Given the description of an element on the screen output the (x, y) to click on. 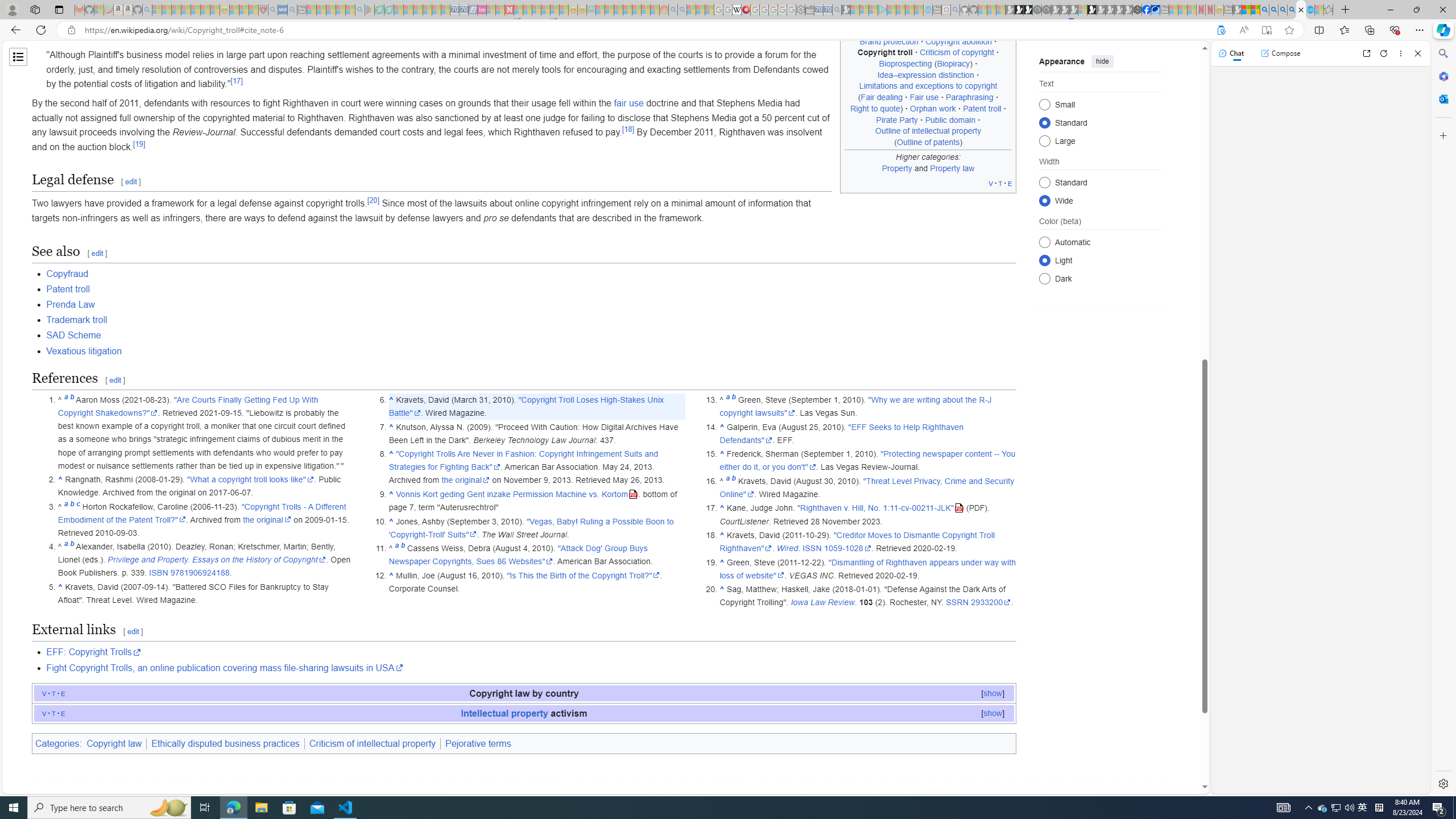
Copilot (Ctrl+Shift+.) (1442, 29)
Favorites - Sleeping (1328, 9)
Microsoft Start - Sleeping (908, 9)
v (44, 712)
"What a copyright troll looks like" (250, 479)
Copyright troll - Wikipedia (1300, 9)
Copyfraud (67, 273)
SAD Scheme (73, 335)
t (52, 712)
2009 Bing officially replaced Live Search on June 3 - Search (1272, 9)
Vexatious litigation (531, 350)
Jump up to: a (727, 480)
Copyfraud (531, 273)
